Given the description of an element on the screen output the (x, y) to click on. 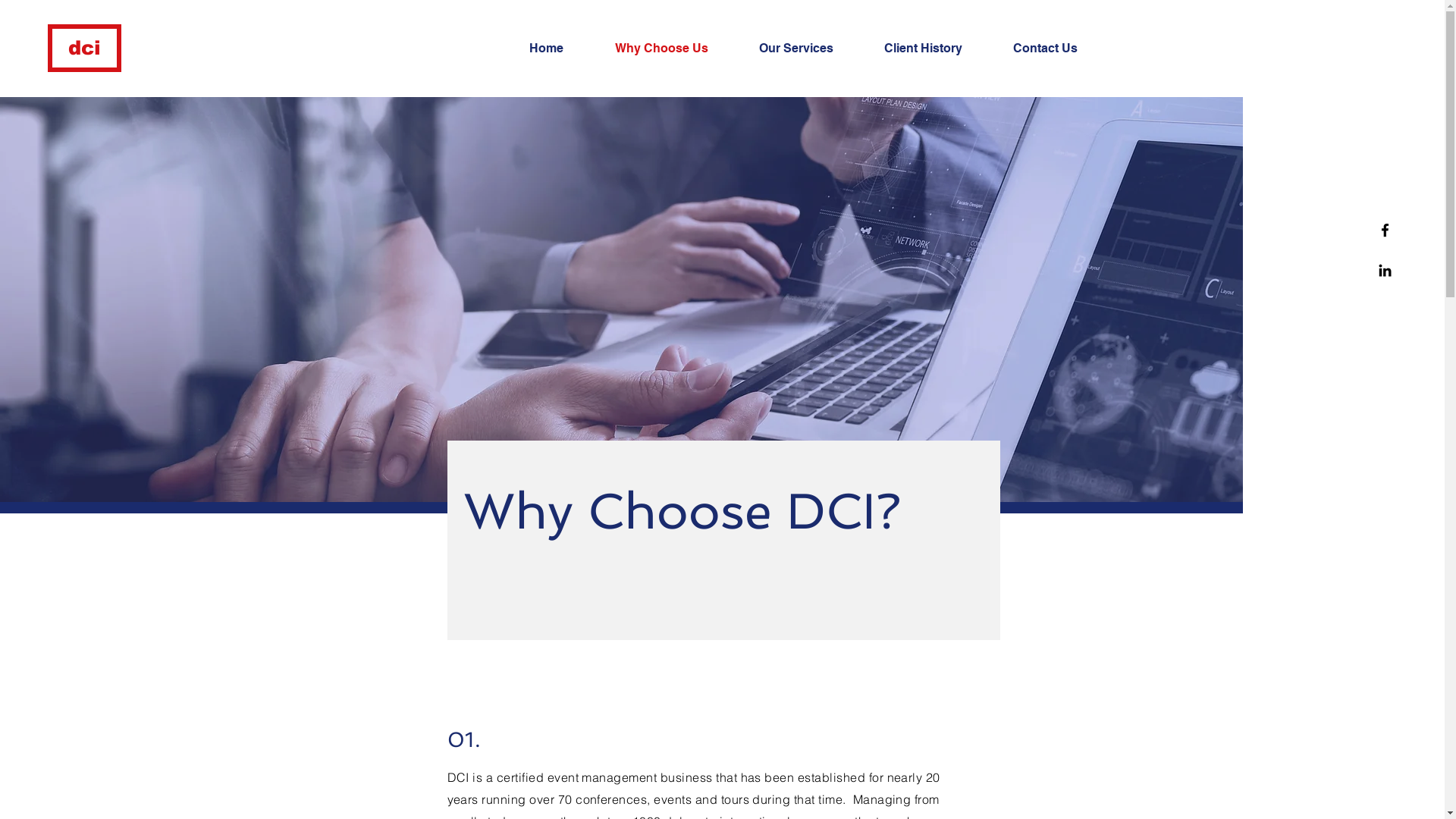
Why Choose Us Element type: text (675, 48)
Client History Element type: text (936, 48)
Our Services Element type: text (809, 48)
Home Element type: text (559, 48)
dci Element type: text (84, 48)
Contact Us Element type: text (1058, 48)
